Given the description of an element on the screen output the (x, y) to click on. 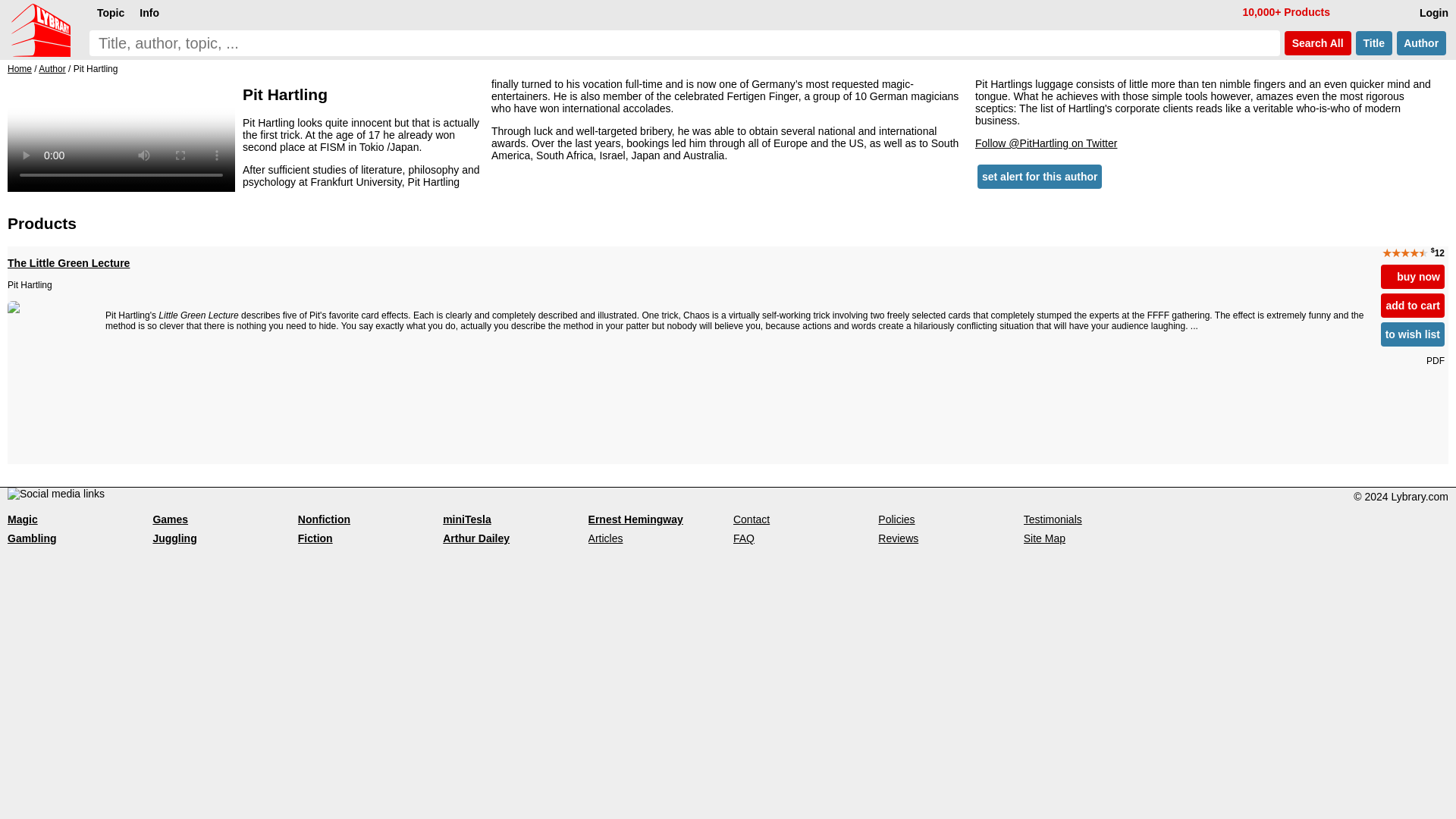
Home (19, 68)
Nonfiction (324, 519)
FAQ (743, 538)
add to cart (1412, 305)
Games (169, 519)
Reviews (897, 538)
Gambling (31, 538)
Fiction (315, 538)
Testimonials (1052, 519)
Author (52, 68)
 Search All  (1317, 43)
Articles (605, 538)
to wish list (1412, 334)
set alert for this author (1039, 176)
Arthur Dailey (475, 538)
